Given the description of an element on the screen output the (x, y) to click on. 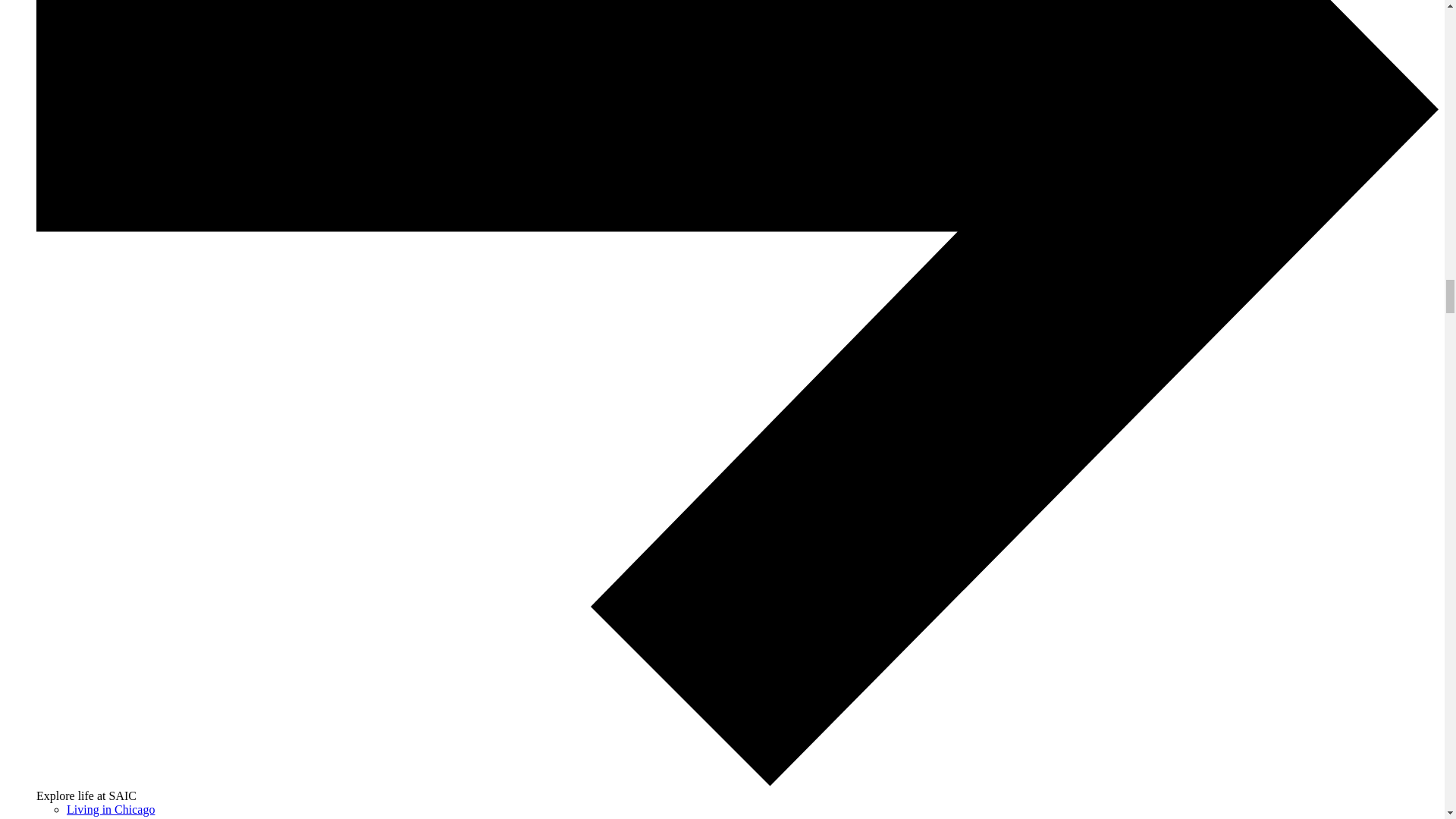
Our Community (106, 817)
Living in Chicago (110, 809)
